Given the description of an element on the screen output the (x, y) to click on. 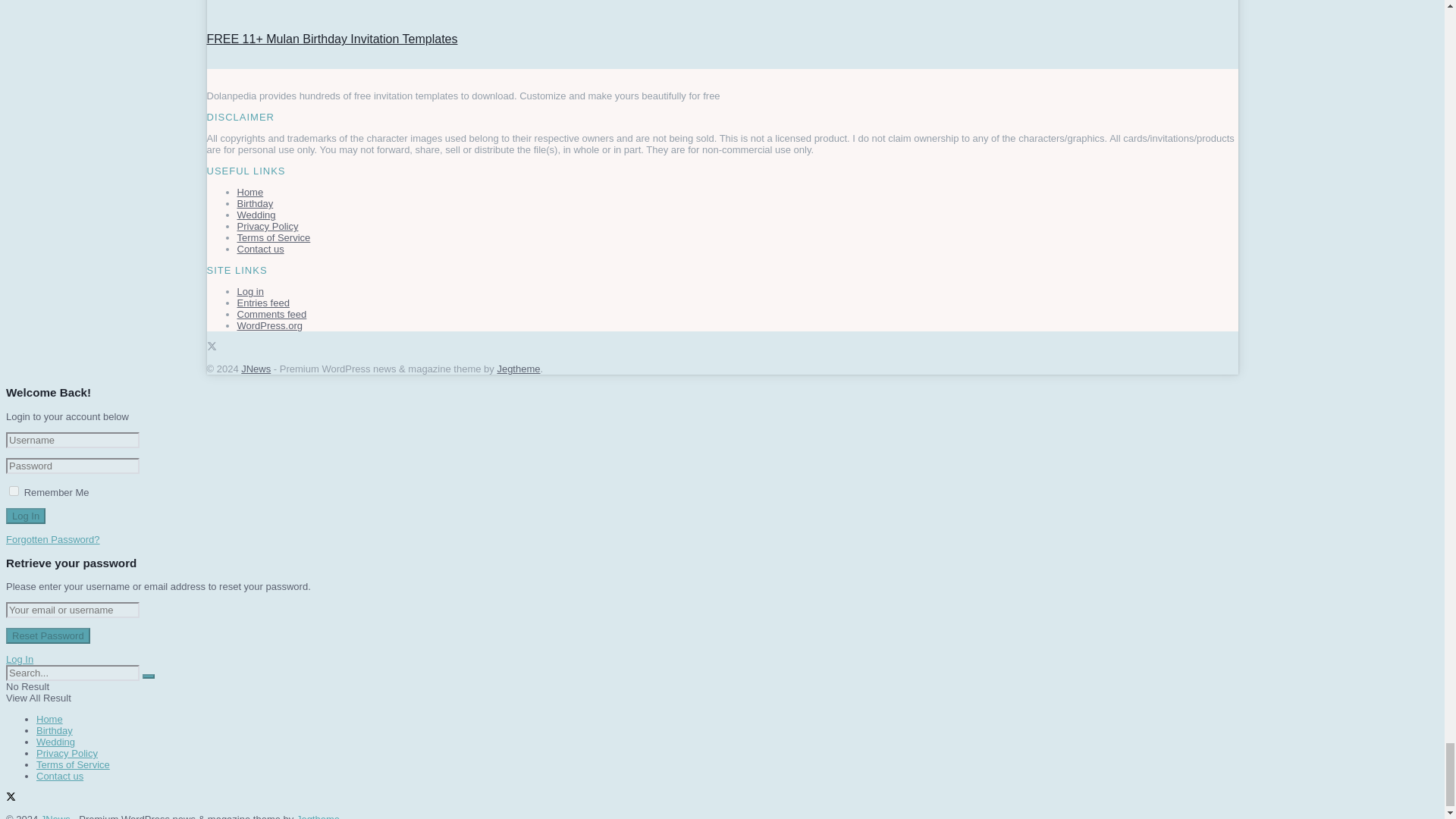
true (13, 491)
Log In (25, 515)
Jegtheme (518, 368)
Reset Password (47, 635)
